Given the description of an element on the screen output the (x, y) to click on. 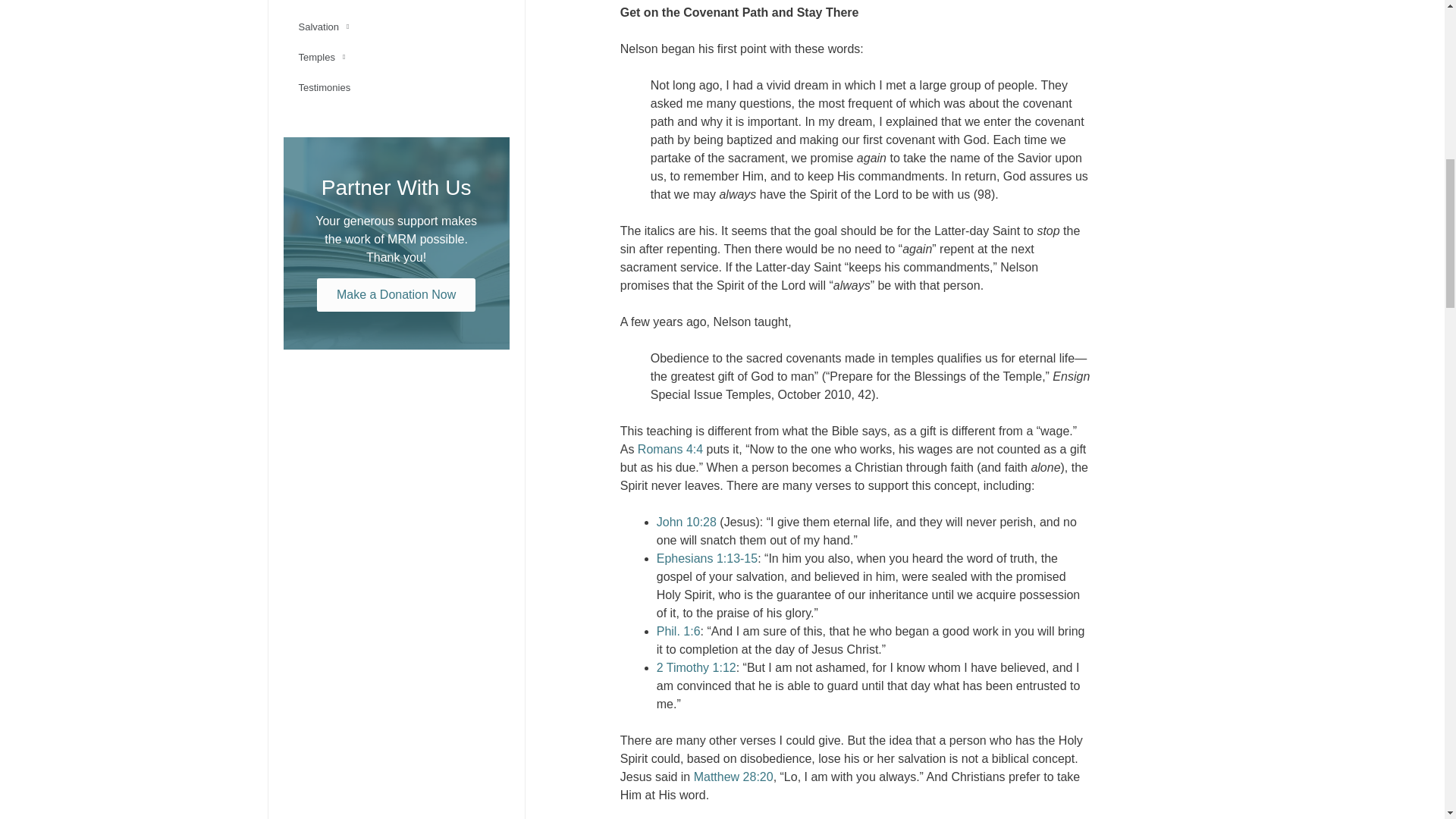
Scroll back to top (1406, 720)
